Given the description of an element on the screen output the (x, y) to click on. 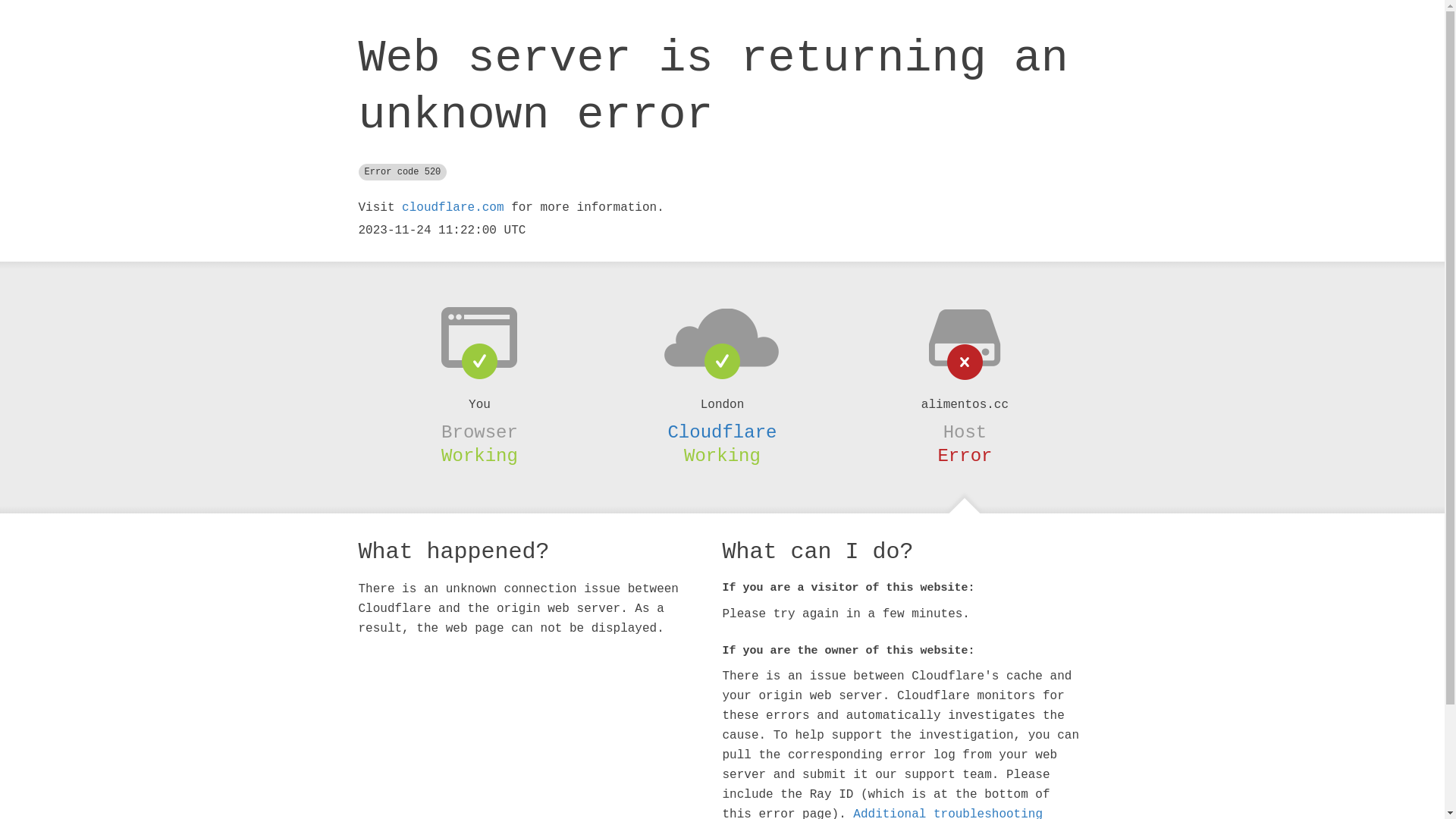
Cloudflare Element type: text (721, 432)
cloudflare.com Element type: text (452, 207)
